Given the description of an element on the screen output the (x, y) to click on. 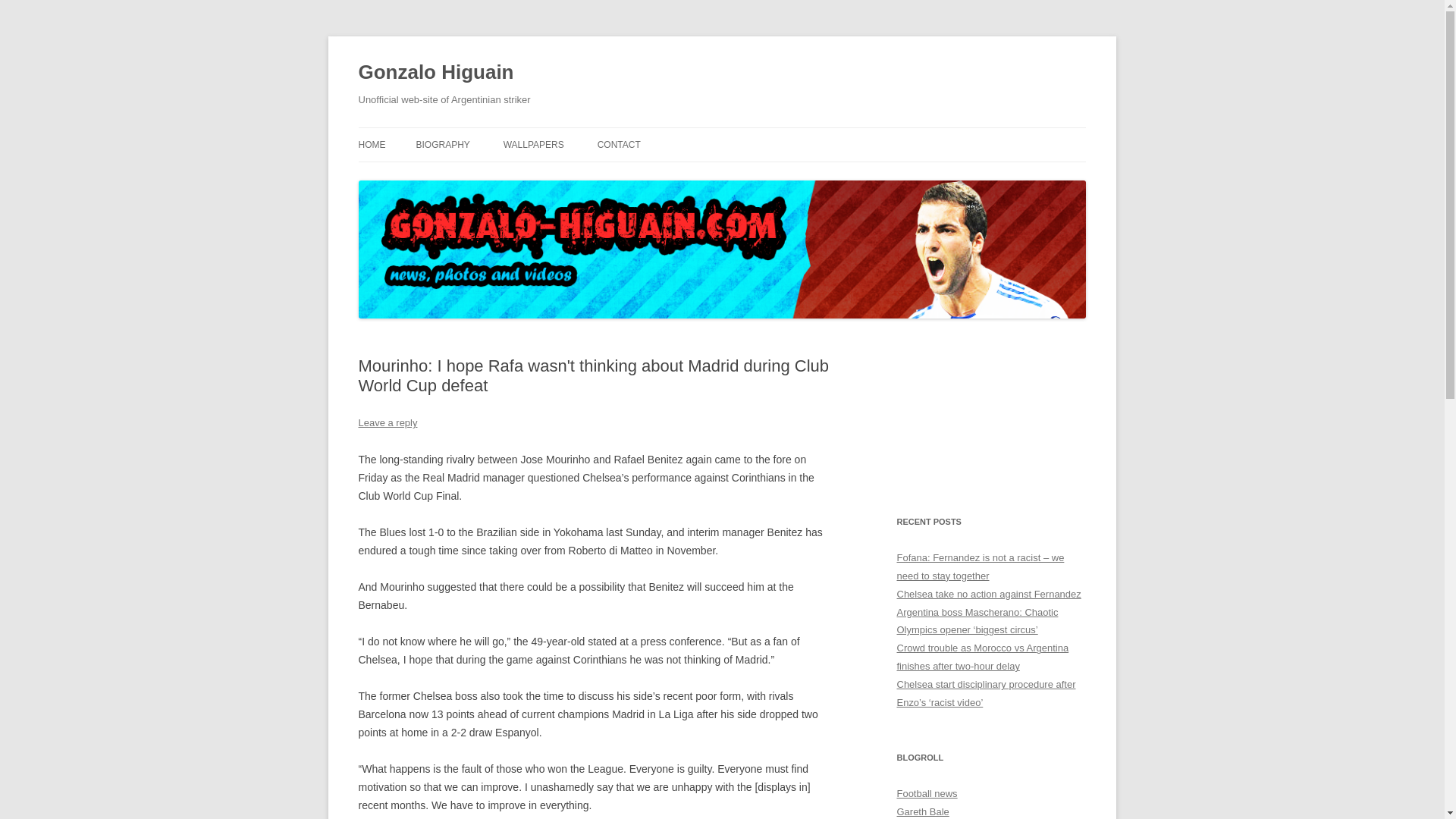
Leave a reply (387, 422)
Gonzalo Higuain (435, 72)
Gareth Bale (922, 811)
Football news (926, 793)
Chelsea take no action against Fernandez (988, 593)
BIOGRAPHY (441, 144)
CONTACT (618, 144)
WALLPAPERS (533, 144)
